Given the description of an element on the screen output the (x, y) to click on. 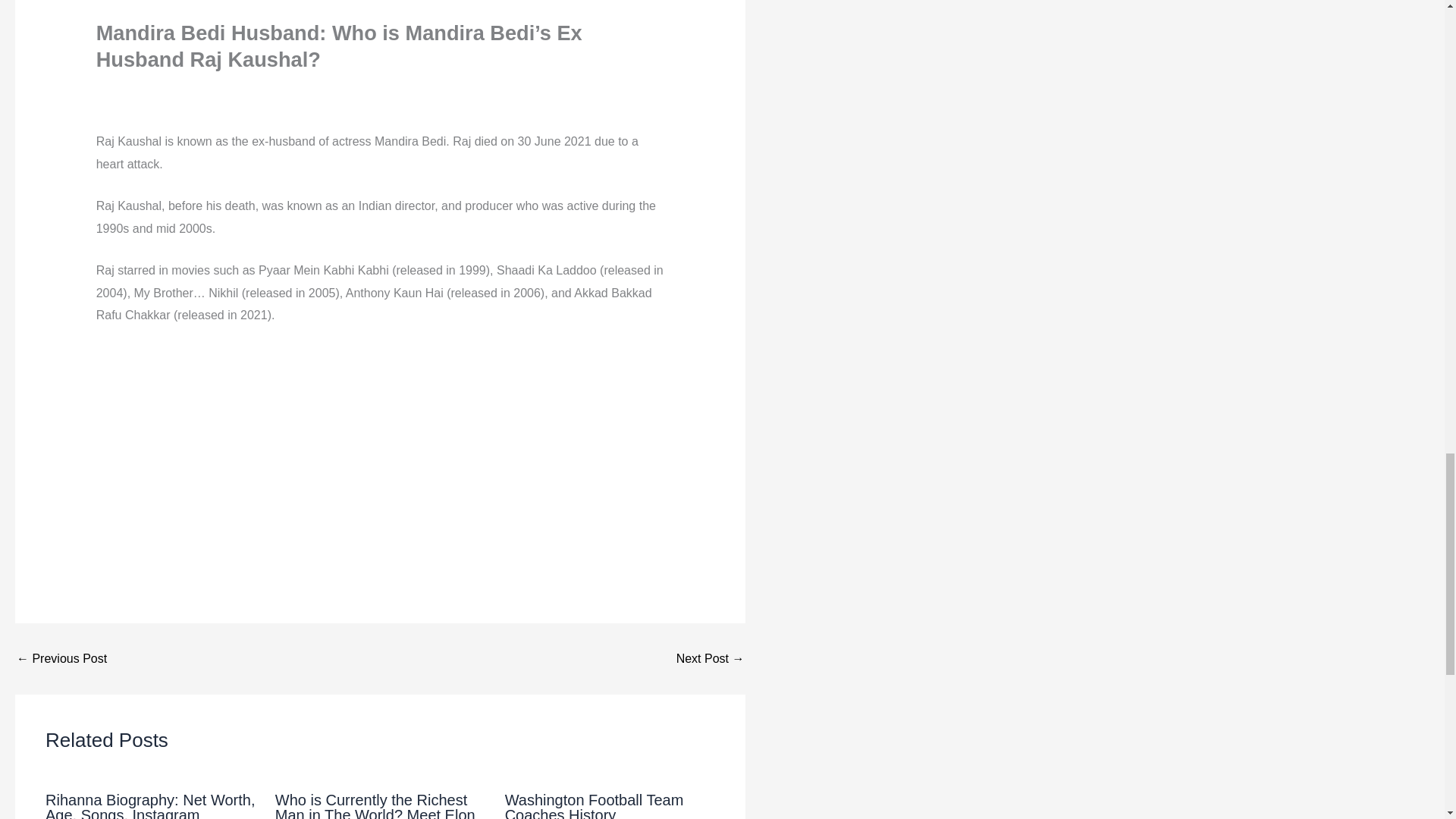
Amina Muaddi Children: Does Amina Muaddi Have Children? (61, 658)
Mandira Bedi Children: Meet Tara Bedi Kaushal and Vir (710, 658)
Advertisement (380, 452)
